Given the description of an element on the screen output the (x, y) to click on. 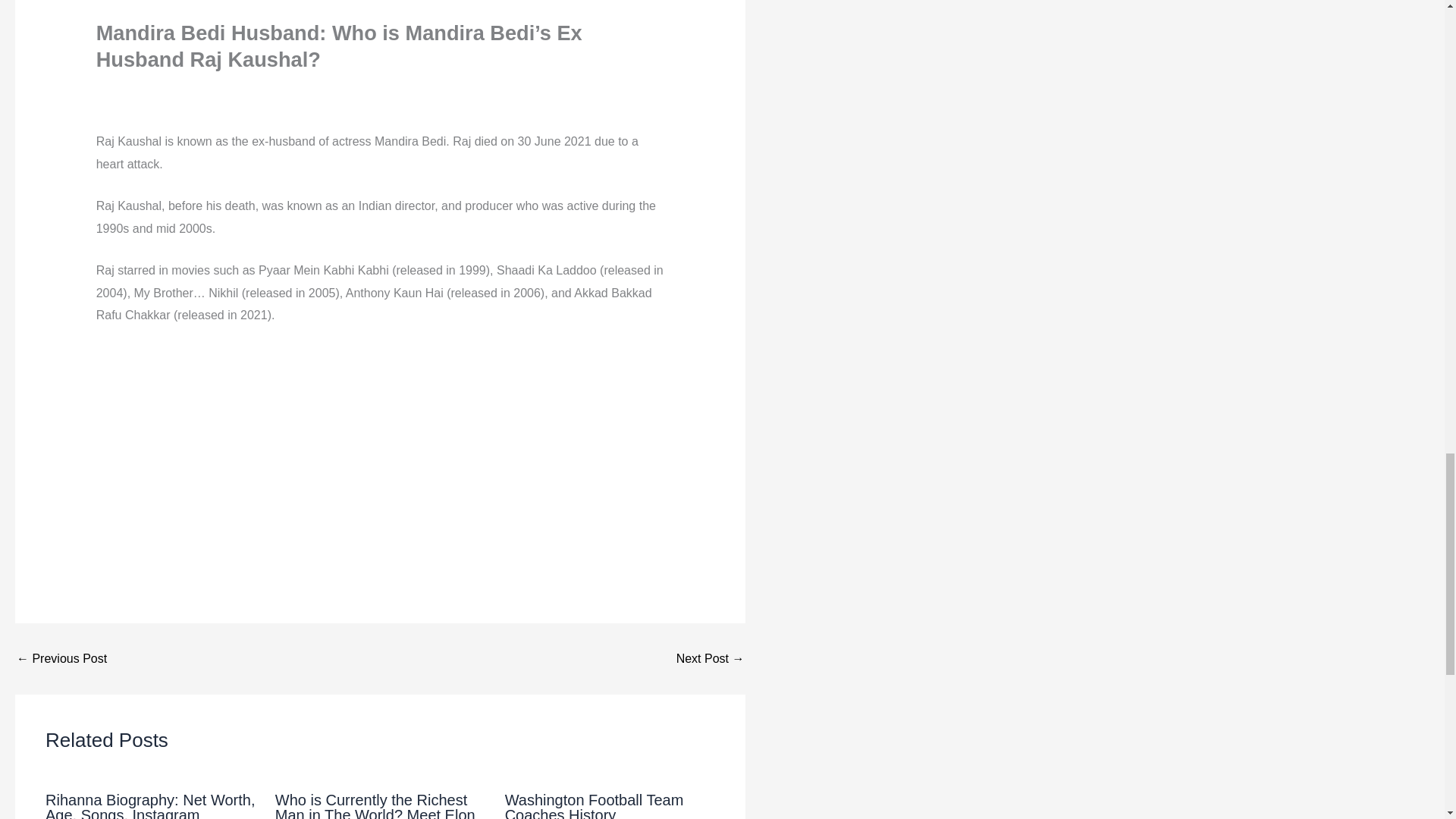
Amina Muaddi Children: Does Amina Muaddi Have Children? (61, 658)
Mandira Bedi Children: Meet Tara Bedi Kaushal and Vir (710, 658)
Advertisement (380, 452)
